Given the description of an element on the screen output the (x, y) to click on. 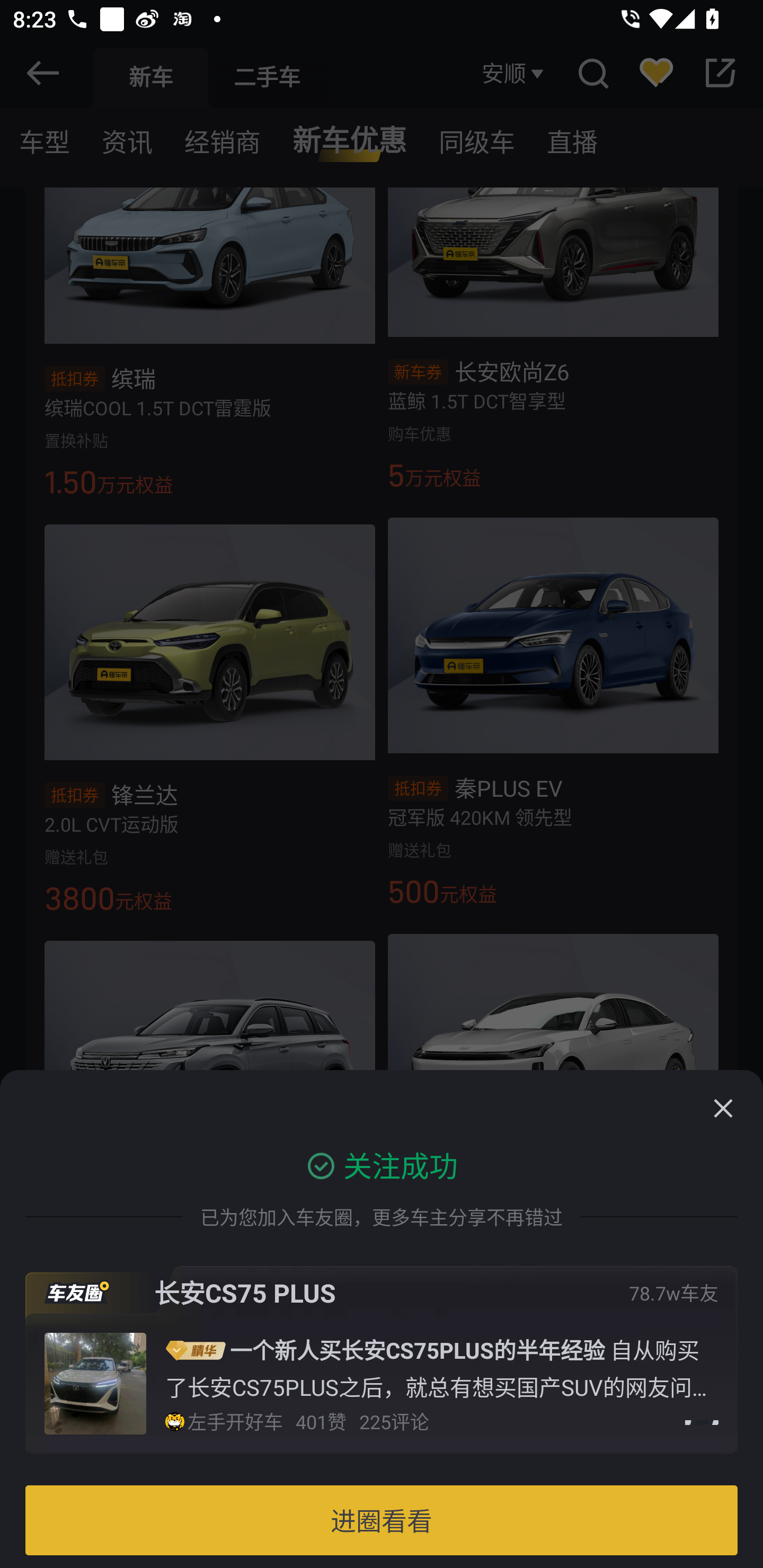
 (722, 1108)
进圈看看 (381, 1519)
